Given the description of an element on the screen output the (x, y) to click on. 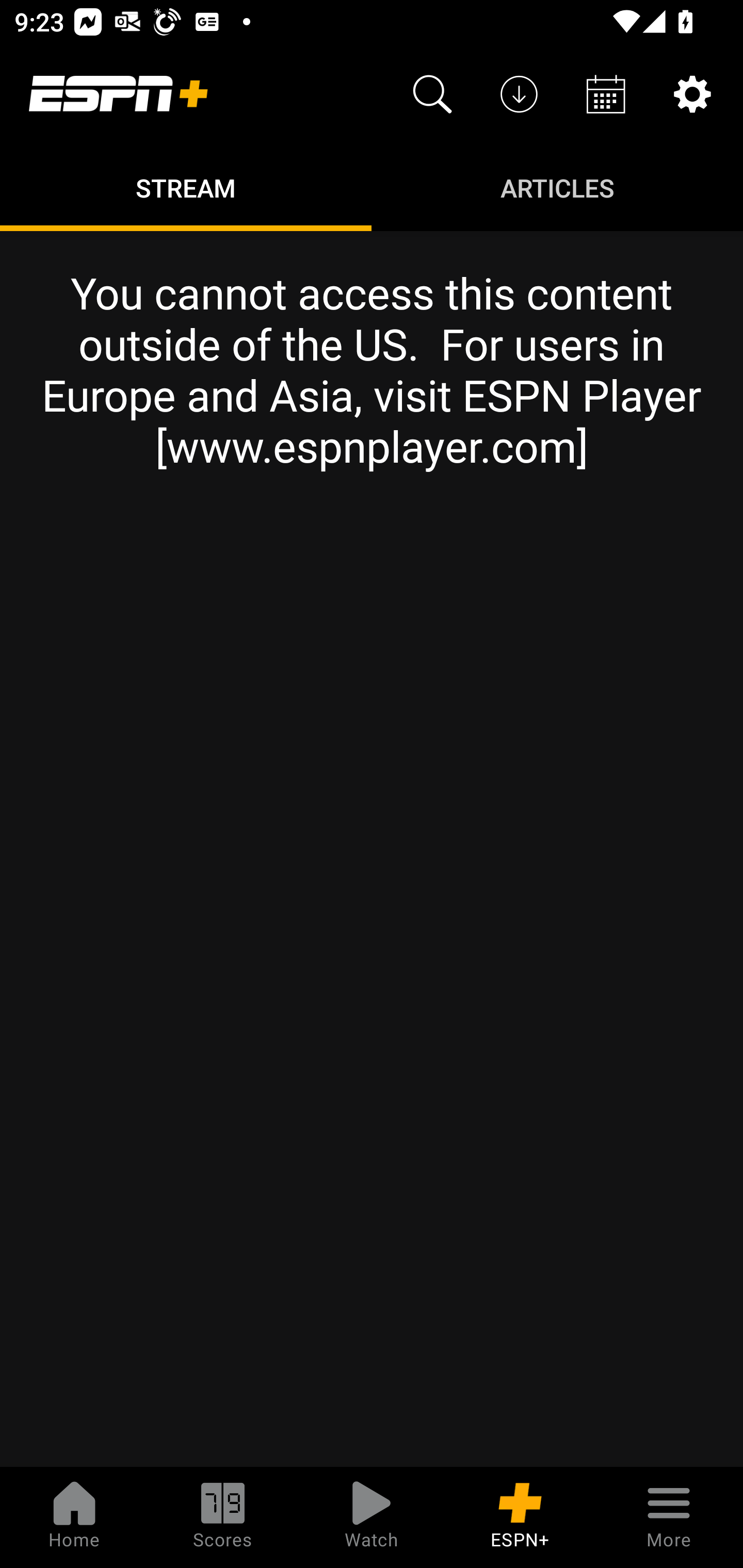
Search (432, 93)
Downloads (518, 93)
Schedule (605, 93)
Settings (692, 93)
Articles ARTICLES (557, 187)
Home (74, 1517)
Scores (222, 1517)
Watch (371, 1517)
More (668, 1517)
